Given the description of an element on the screen output the (x, y) to click on. 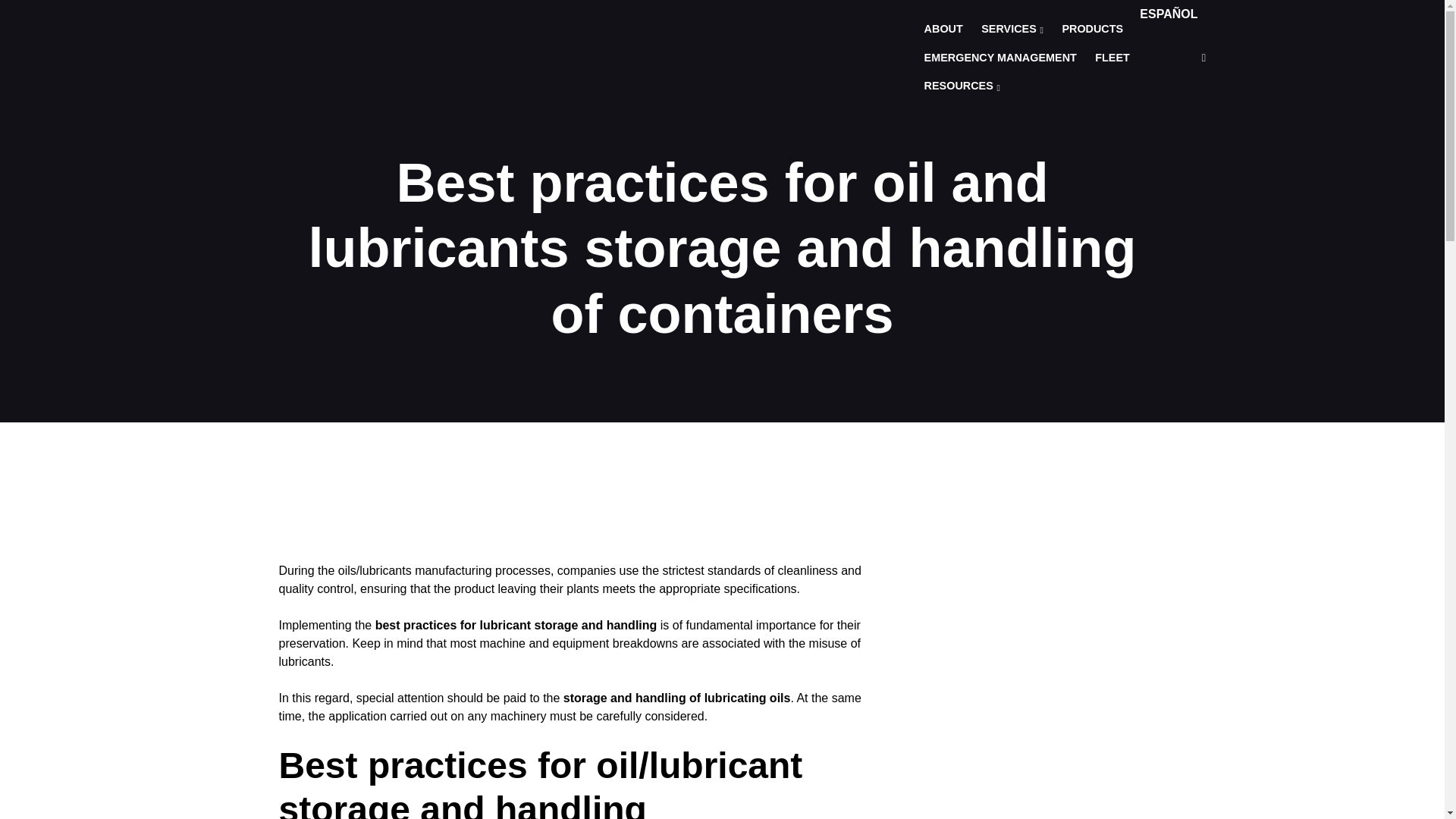
FLEET (1112, 58)
SERVICES (1012, 29)
ABOUT (944, 29)
RESOURCES (962, 86)
EMERGENCY MANAGEMENT (1000, 58)
PRODUCTS (1092, 29)
